Given the description of an element on the screen output the (x, y) to click on. 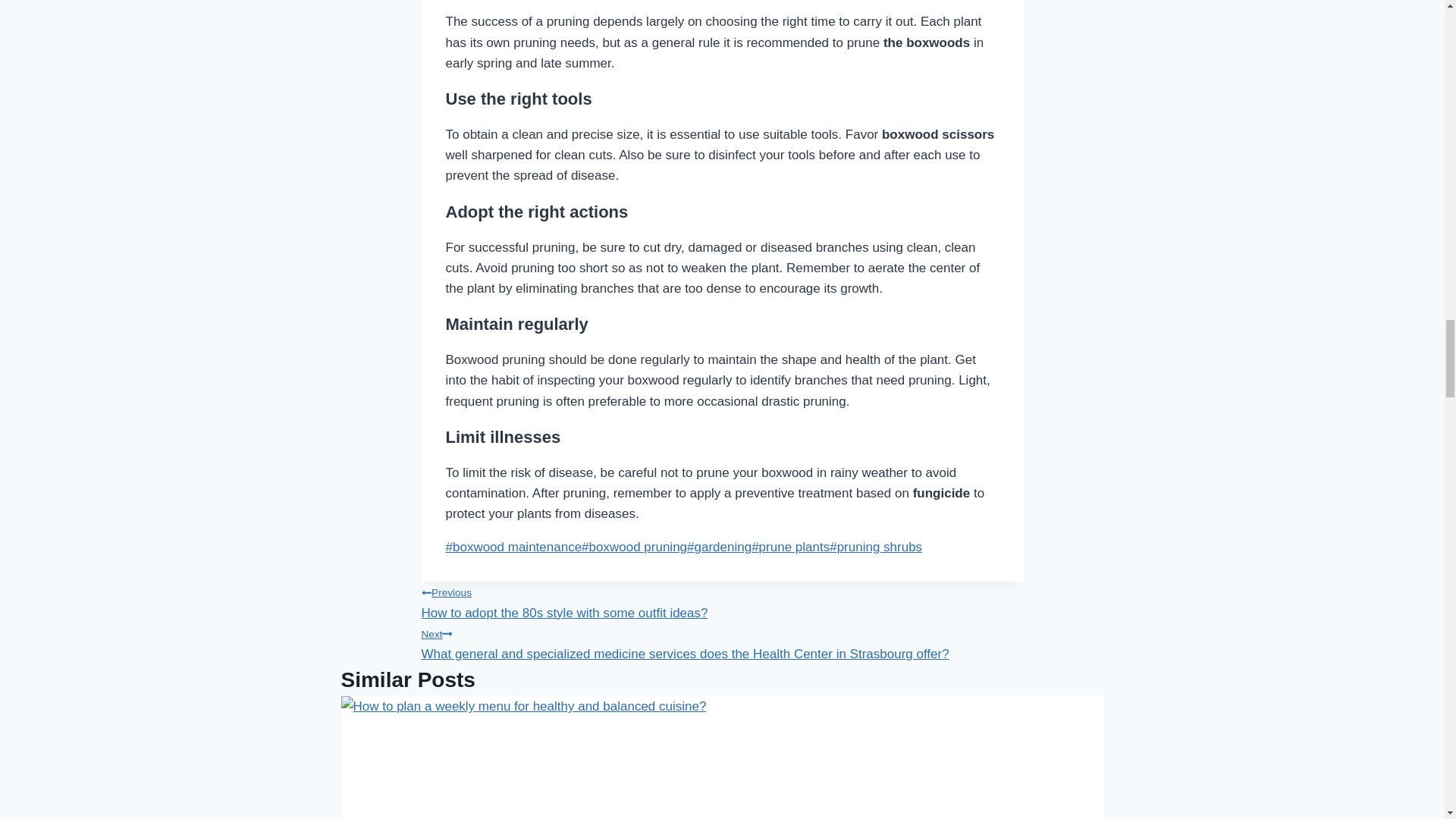
pruning shrubs (875, 546)
gardening (719, 546)
prune plants (722, 600)
boxwood pruning (790, 546)
boxwood maintenance (633, 546)
